Given the description of an element on the screen output the (x, y) to click on. 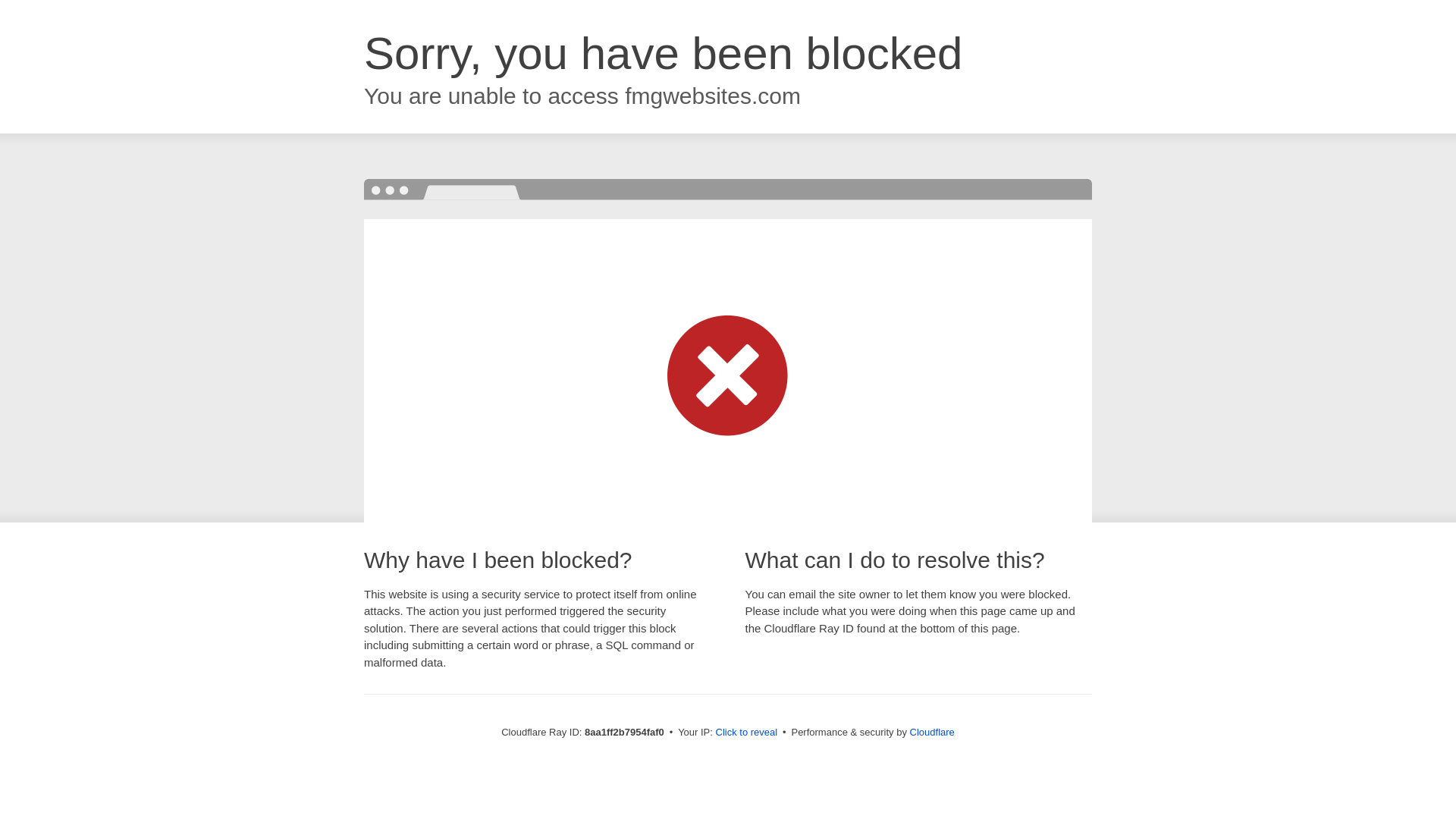
Click to reveal (746, 732)
Cloudflare (932, 731)
